Given the description of an element on the screen output the (x, y) to click on. 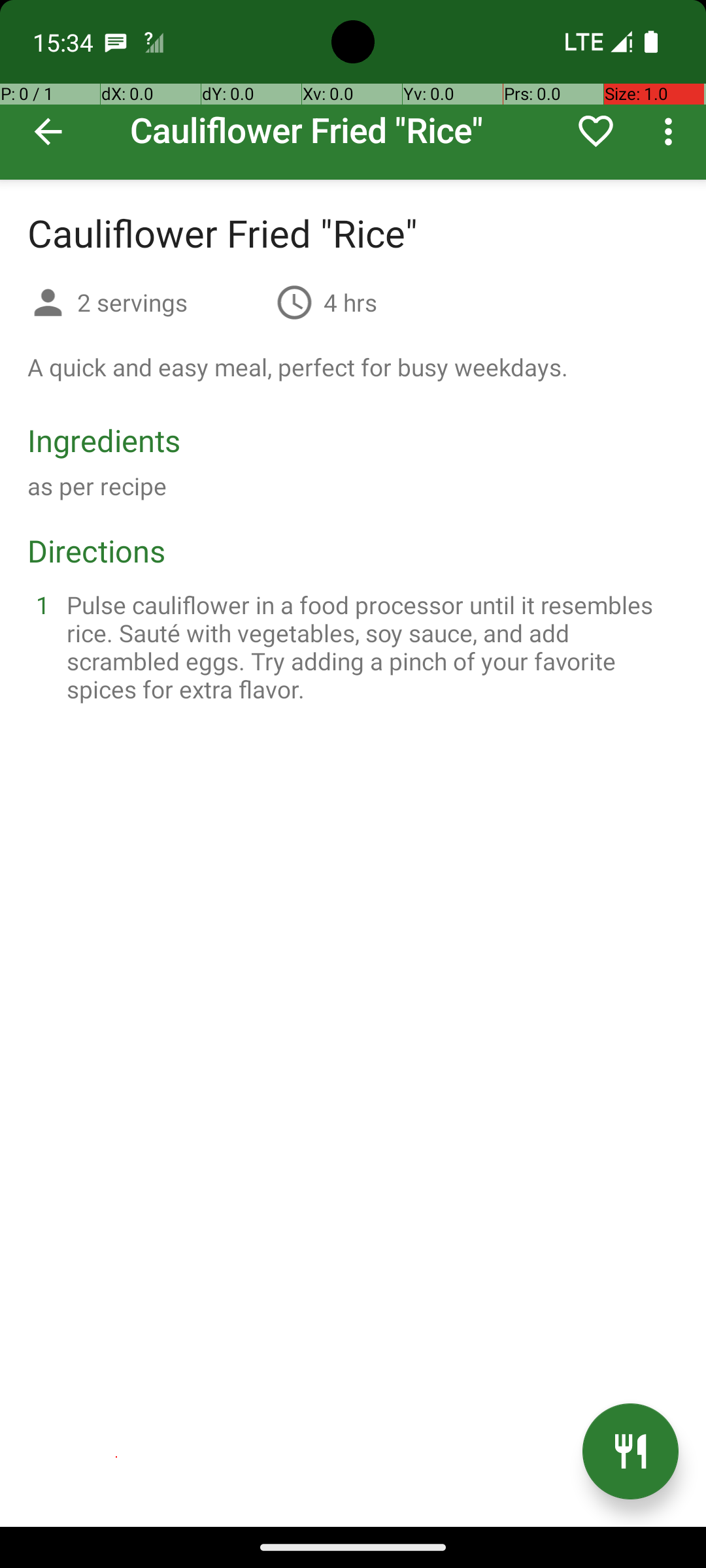
Pulse cauliflower in a food processor until it resembles rice. Sauté with vegetables, soy sauce, and add scrambled eggs. Try adding a pinch of your favorite spices for extra flavor. Element type: android.widget.TextView (368, 646)
